Given the description of an element on the screen output the (x, y) to click on. 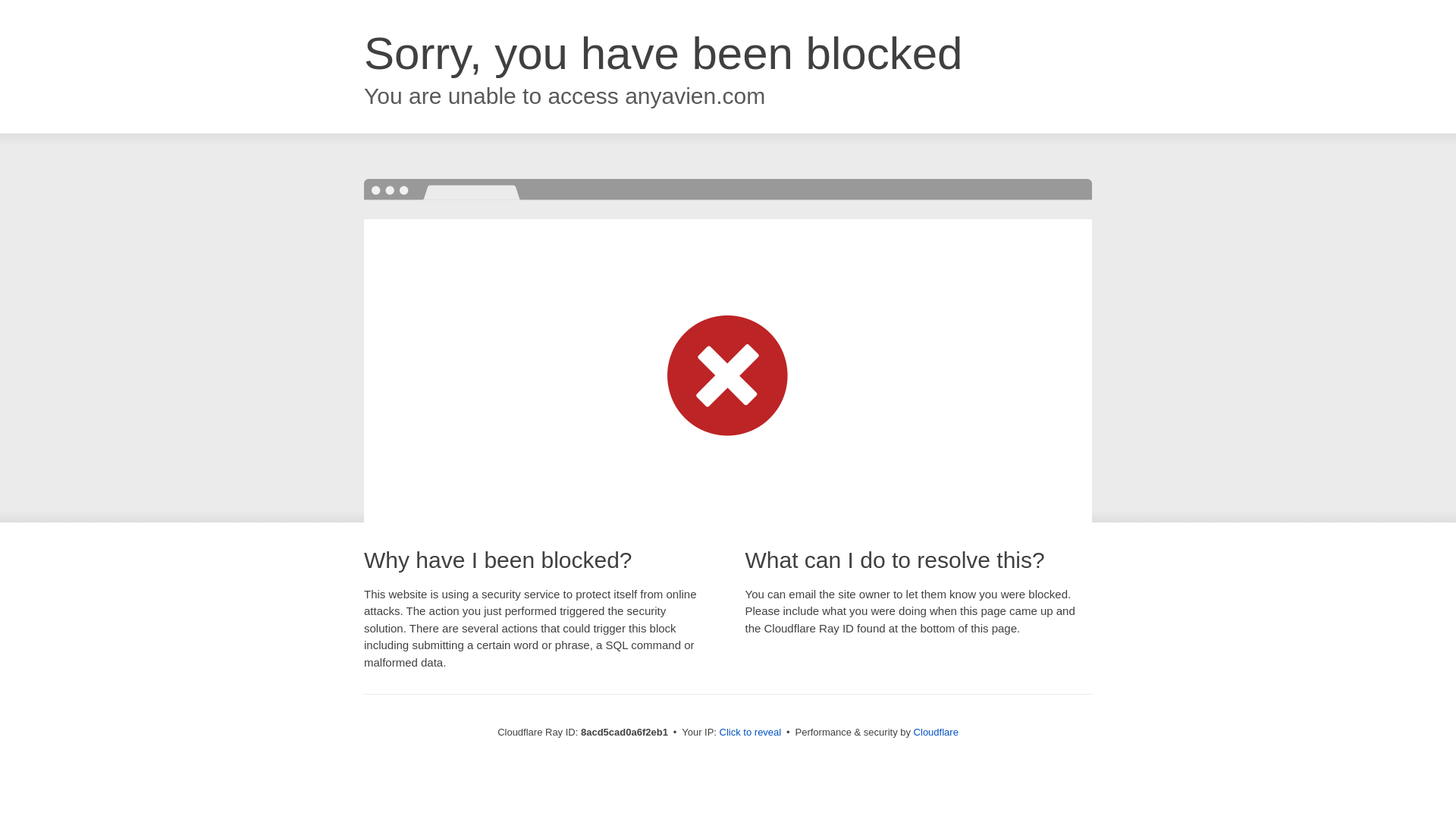
Click to reveal (750, 732)
Cloudflare (936, 731)
